Given the description of an element on the screen output the (x, y) to click on. 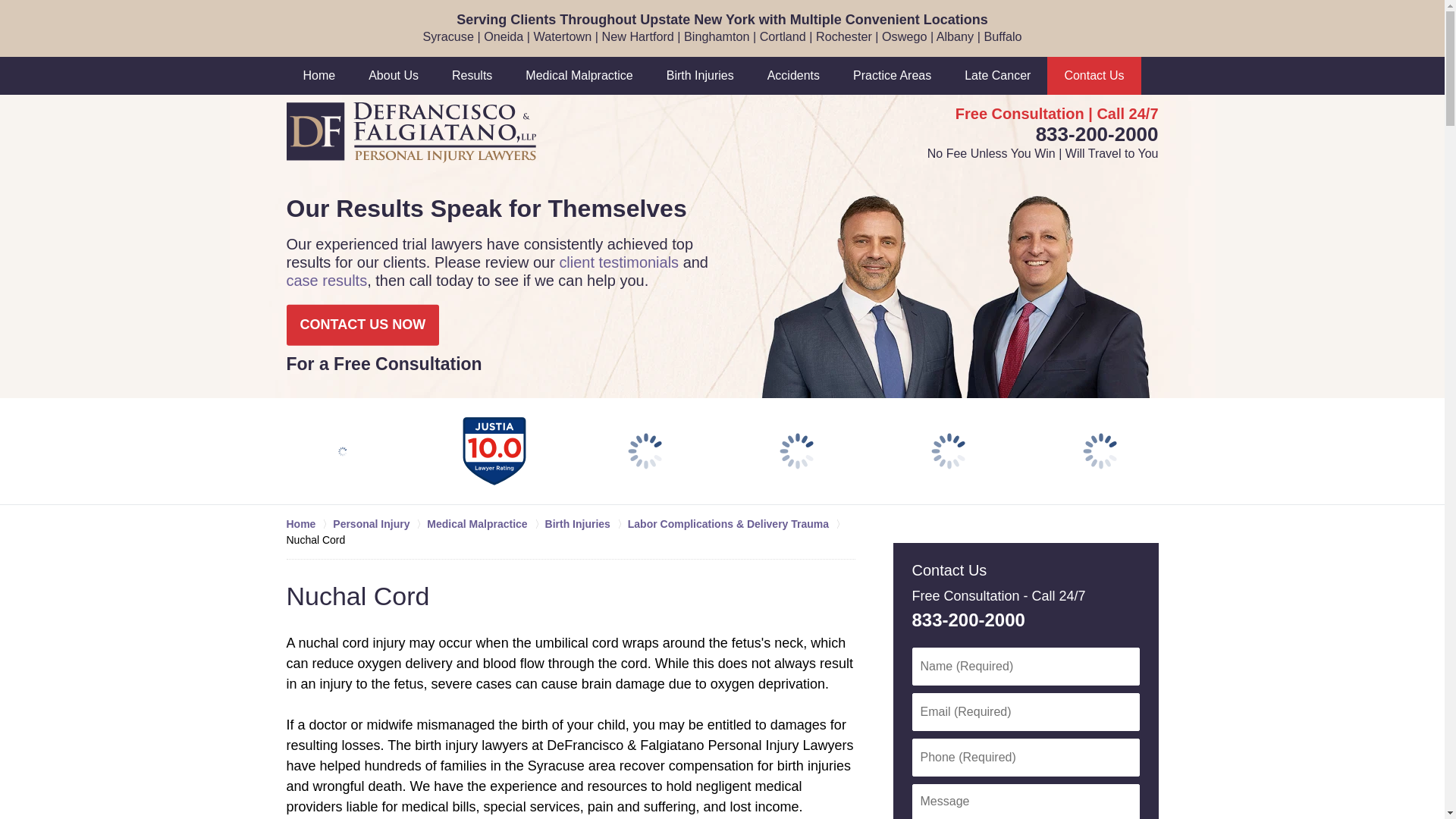
Birth Injuries (700, 75)
Back to Home (410, 132)
Medical Malpractice (578, 75)
Practice Areas (891, 75)
Home (319, 75)
About Us (393, 75)
Results (471, 75)
Accidents (793, 75)
